Given the description of an element on the screen output the (x, y) to click on. 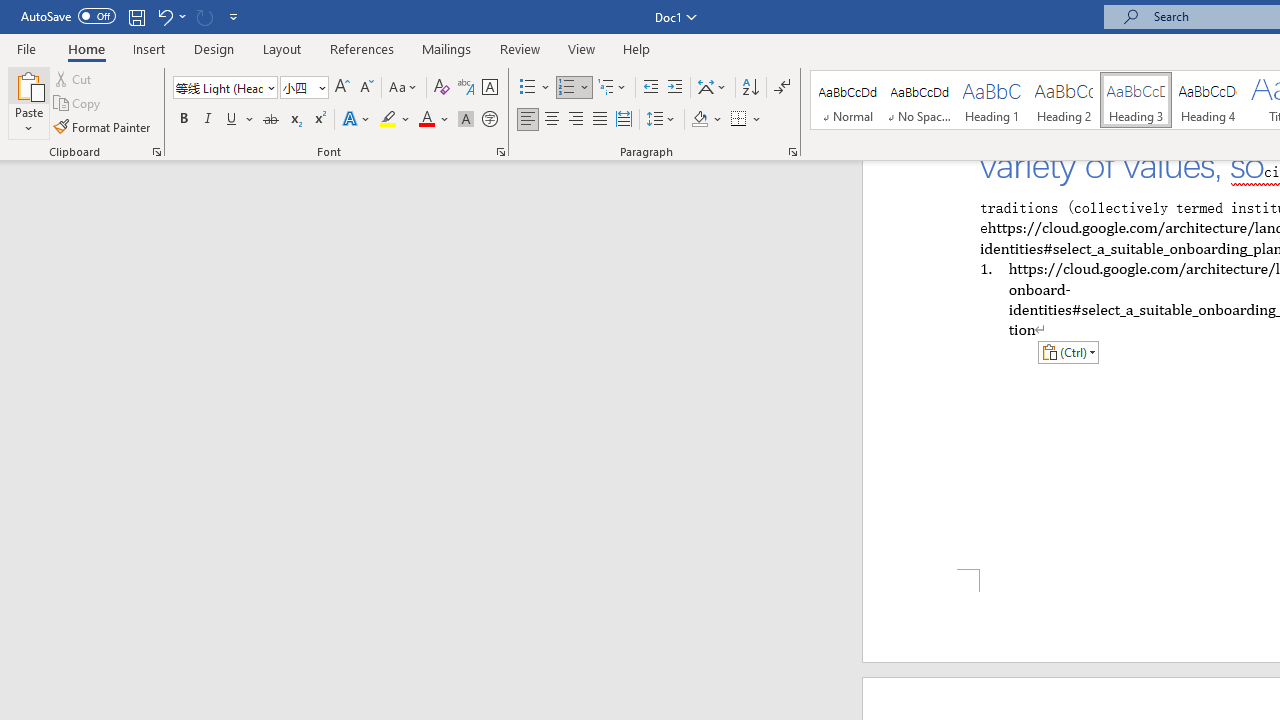
Undo Paste (164, 15)
Align Left (527, 119)
Heading 4 (1208, 100)
